Given the description of an element on the screen output the (x, y) to click on. 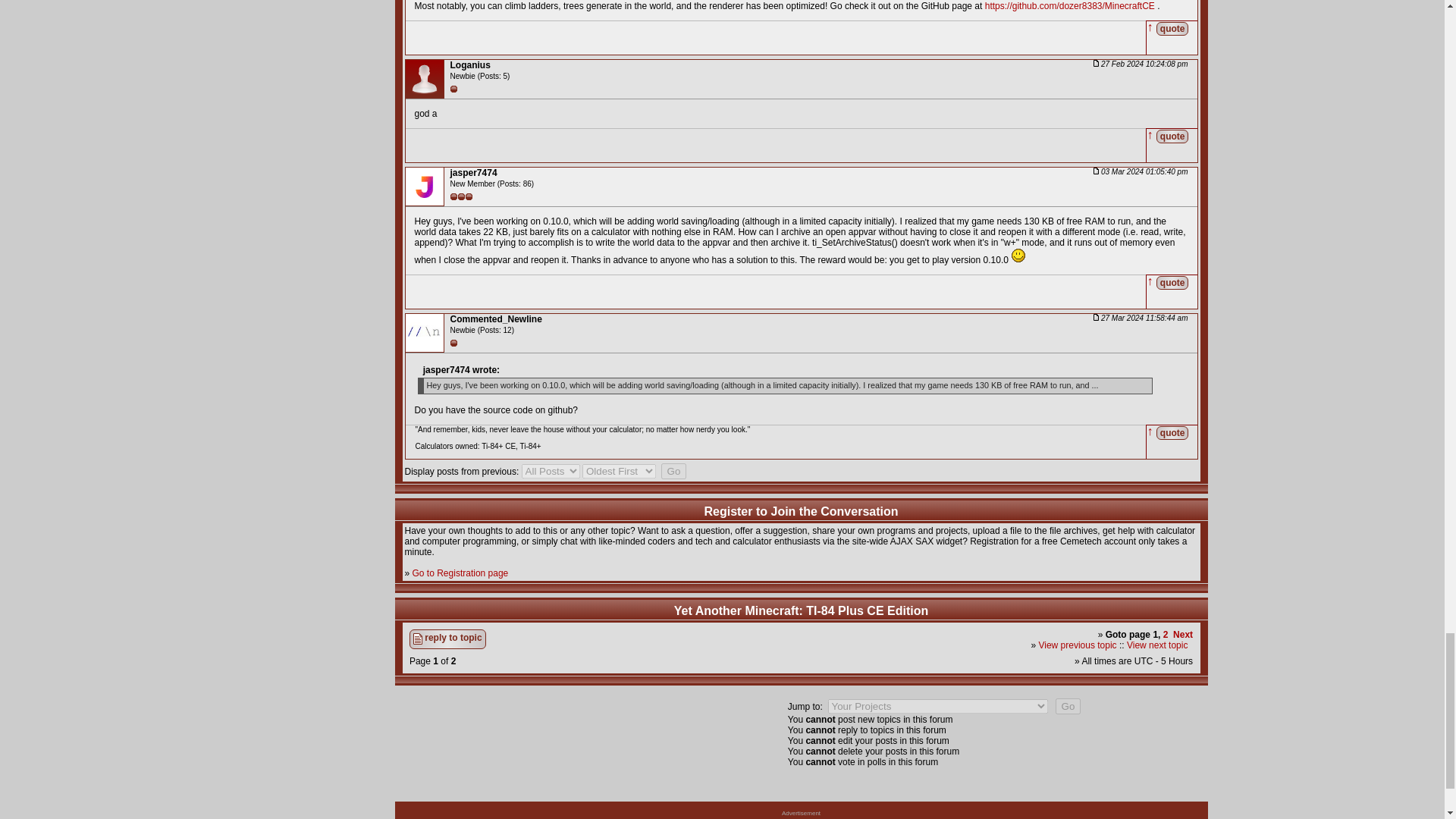
Go (1068, 706)
Go (674, 471)
